Given the description of an element on the screen output the (x, y) to click on. 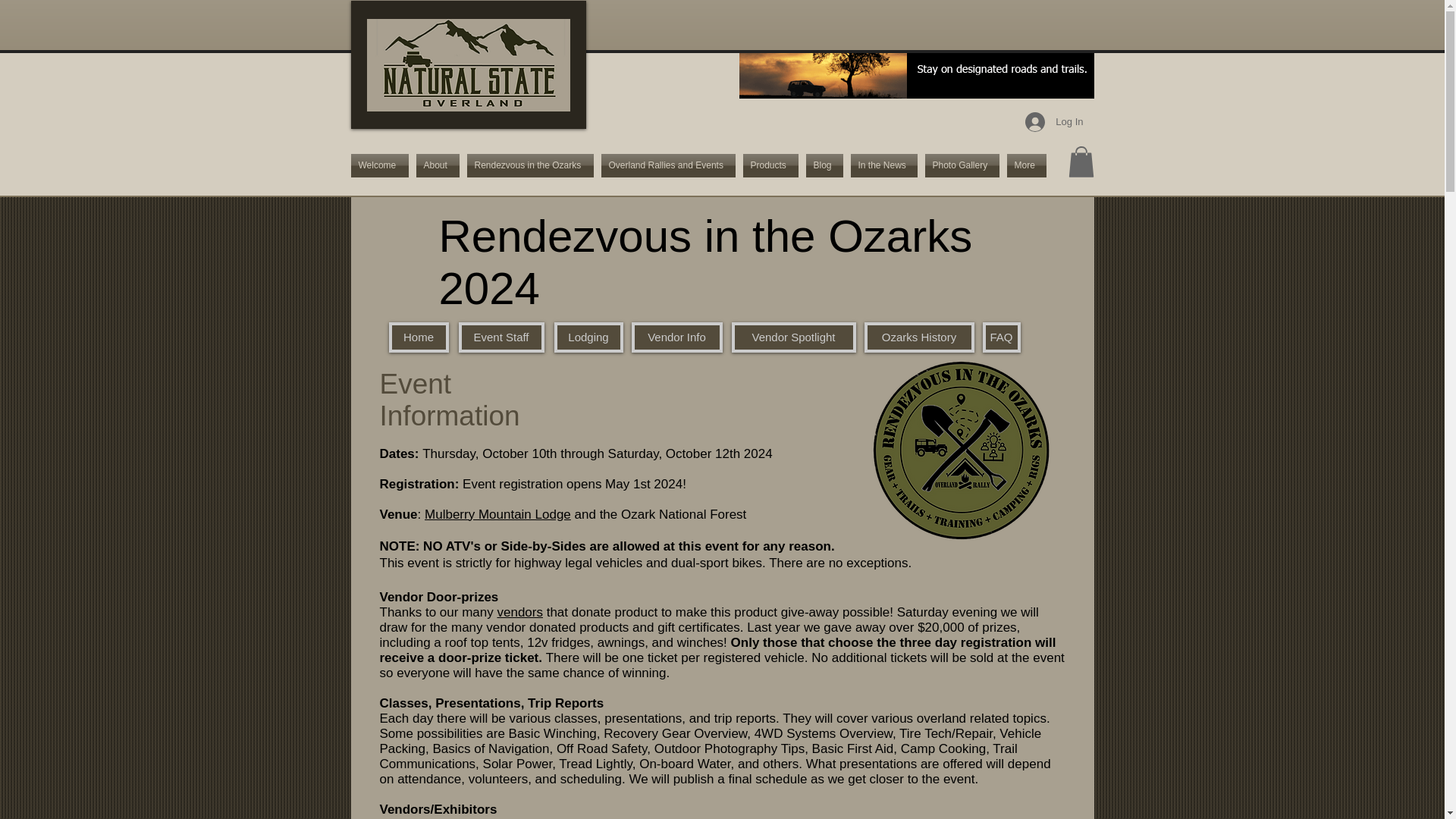
Rendezvous in the Ozarks (529, 165)
Log In (1053, 121)
Photo Gallery (961, 165)
Overland Rallies and Events (667, 165)
Welcome (381, 165)
Vendor Spotlight (793, 337)
Vendor Info (676, 337)
Event Staff (500, 337)
In the News (882, 165)
FAQ (1001, 337)
Lodging (588, 337)
Blog (824, 165)
Ozarks History (919, 337)
vendors (518, 612)
Products (770, 165)
